Given the description of an element on the screen output the (x, y) to click on. 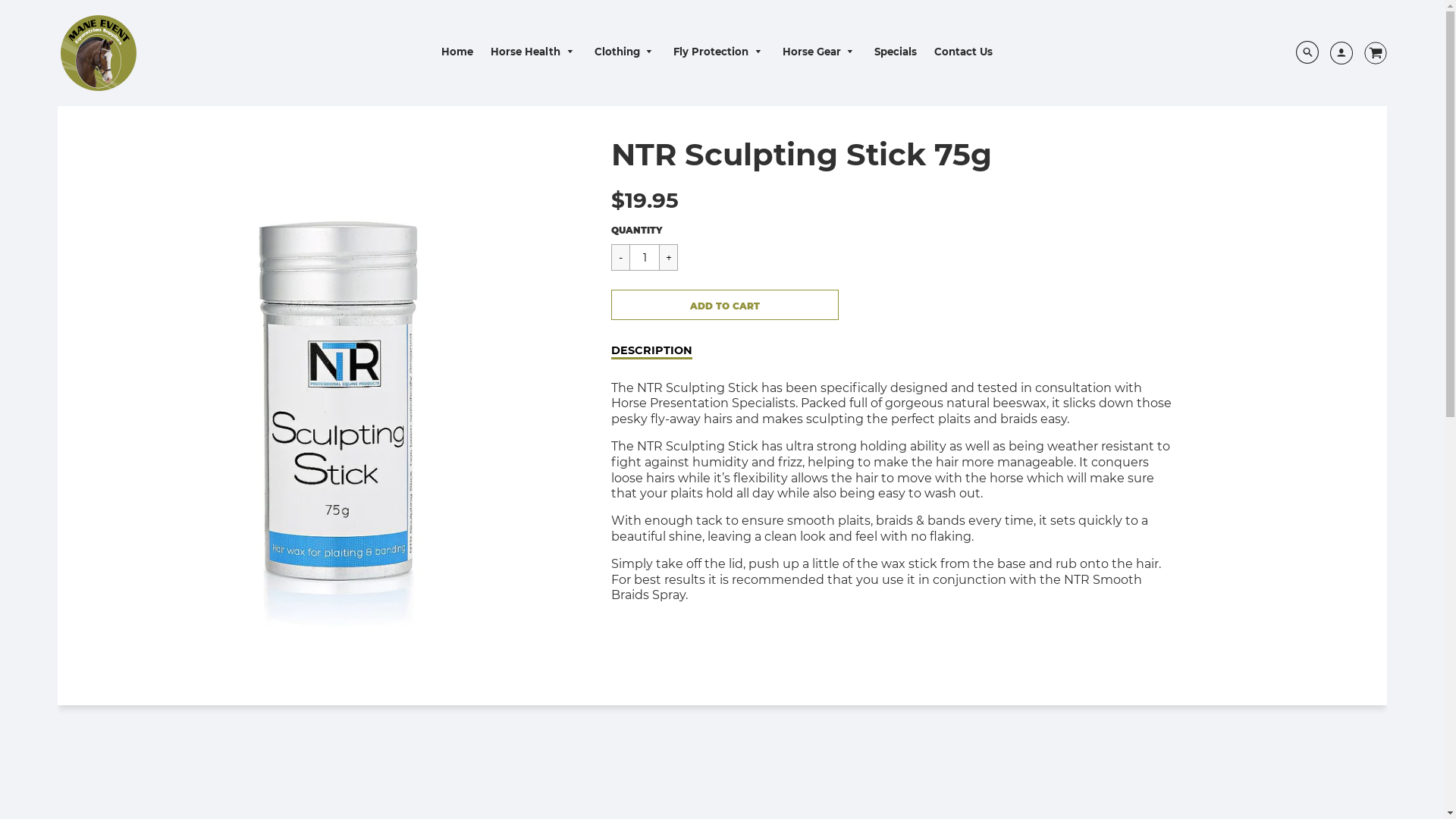
CART ERROR
ADD TO CART Element type: text (724, 304)
image/svg+xml Layer 1 Element type: text (1369, 52)
Clothing Element type: text (625, 51)
Contact Us Element type: text (963, 51)
Specials Element type: text (895, 51)
Home Element type: text (456, 51)
Horse Health Element type: text (533, 51)
Horse Gear Element type: text (820, 51)
Fly Protection Element type: text (718, 51)
